Given the description of an element on the screen output the (x, y) to click on. 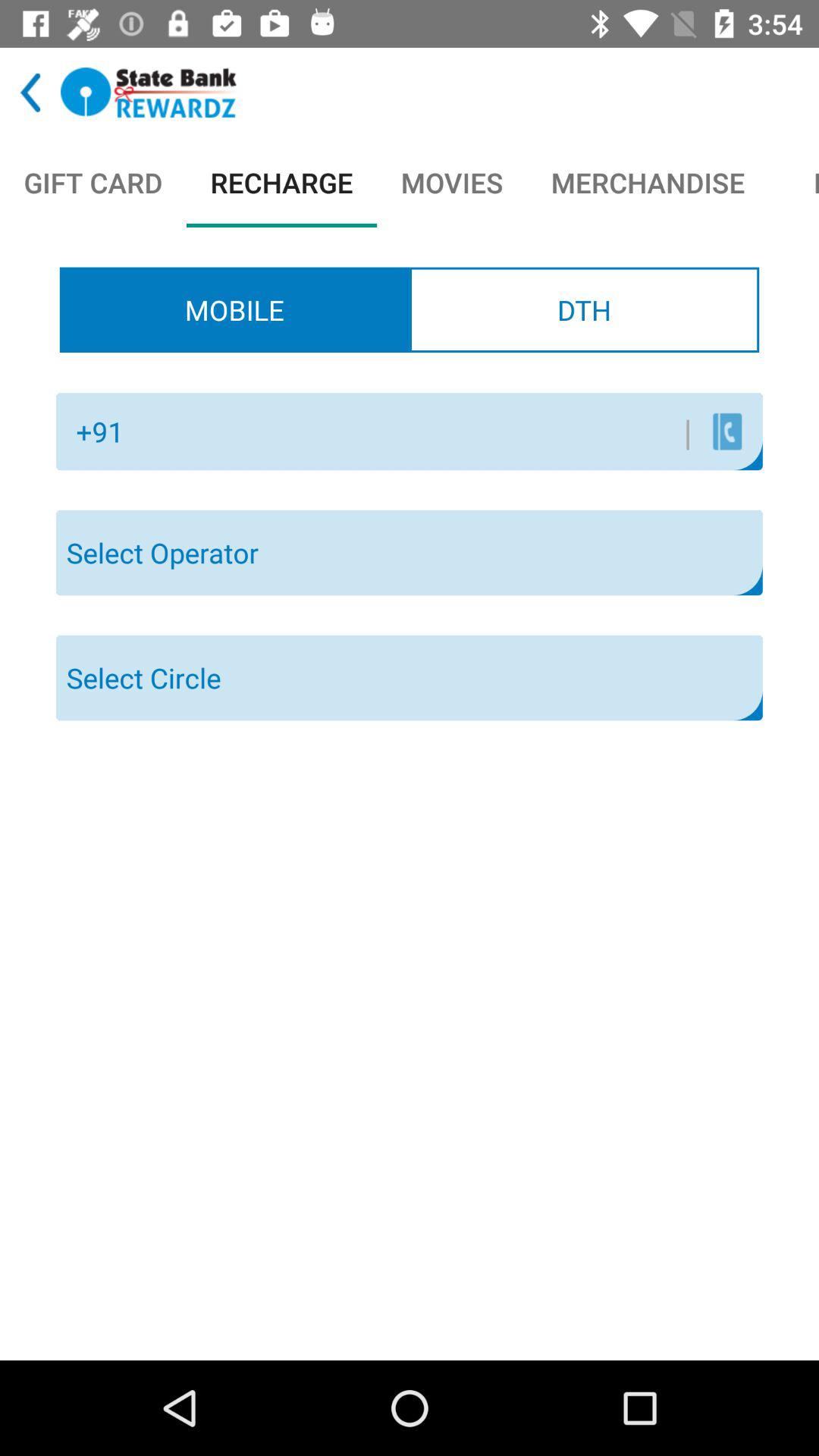
tap the app above the +91 (234, 309)
